Given the description of an element on the screen output the (x, y) to click on. 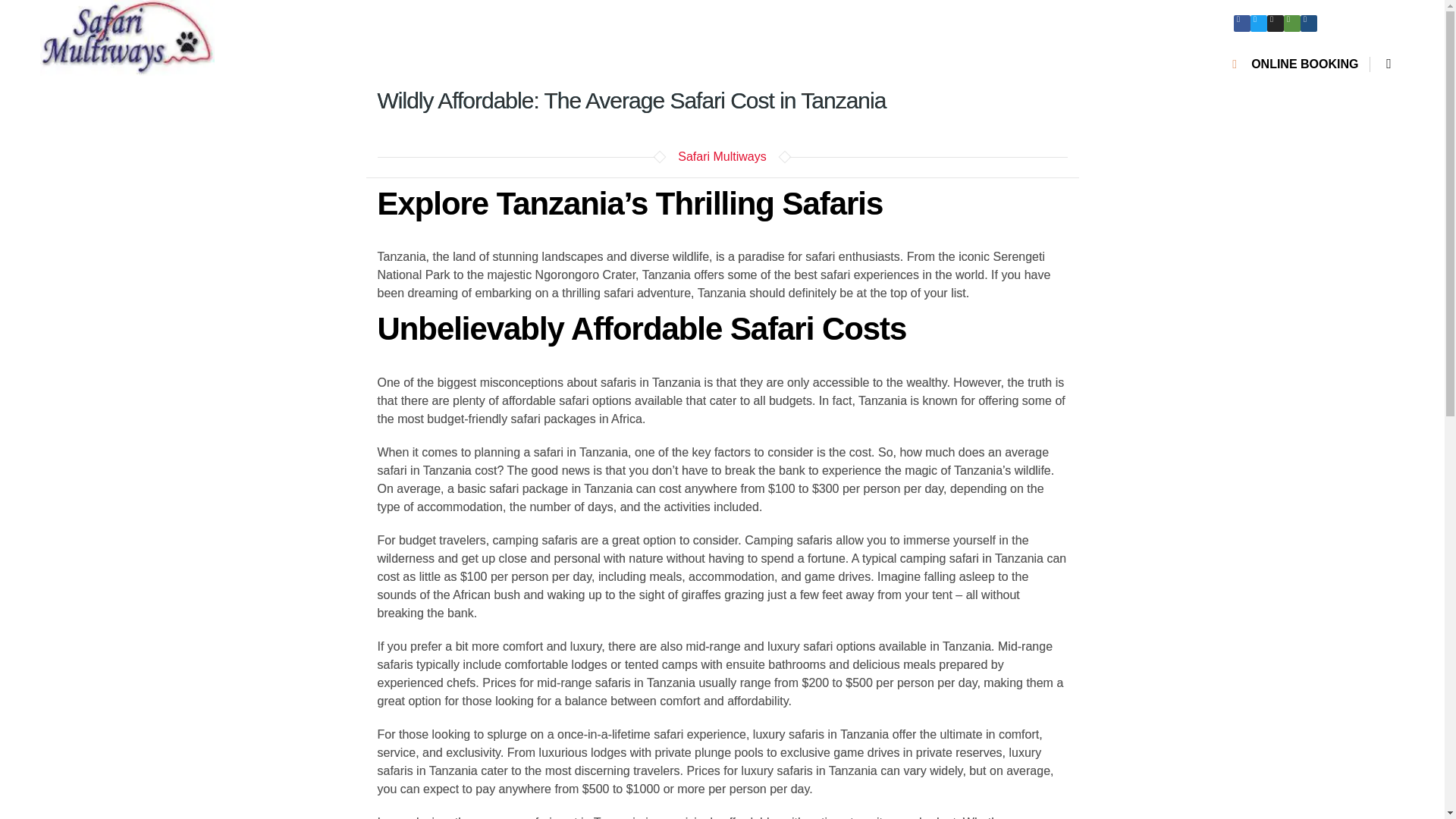
Safari Multiways (721, 155)
ONLINE BOOKING (1294, 63)
